Given the description of an element on the screen output the (x, y) to click on. 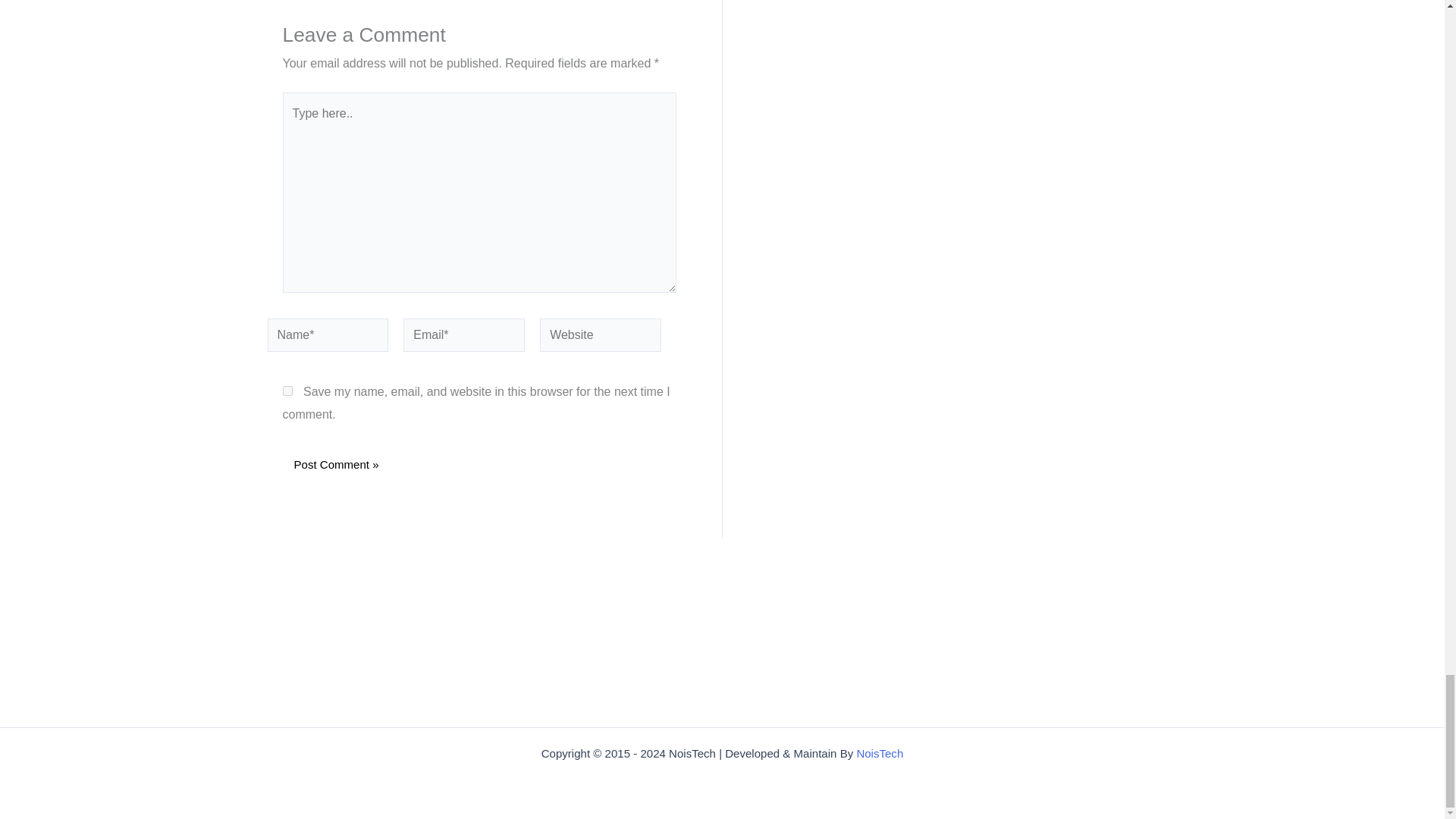
yes (287, 390)
